Given the description of an element on the screen output the (x, y) to click on. 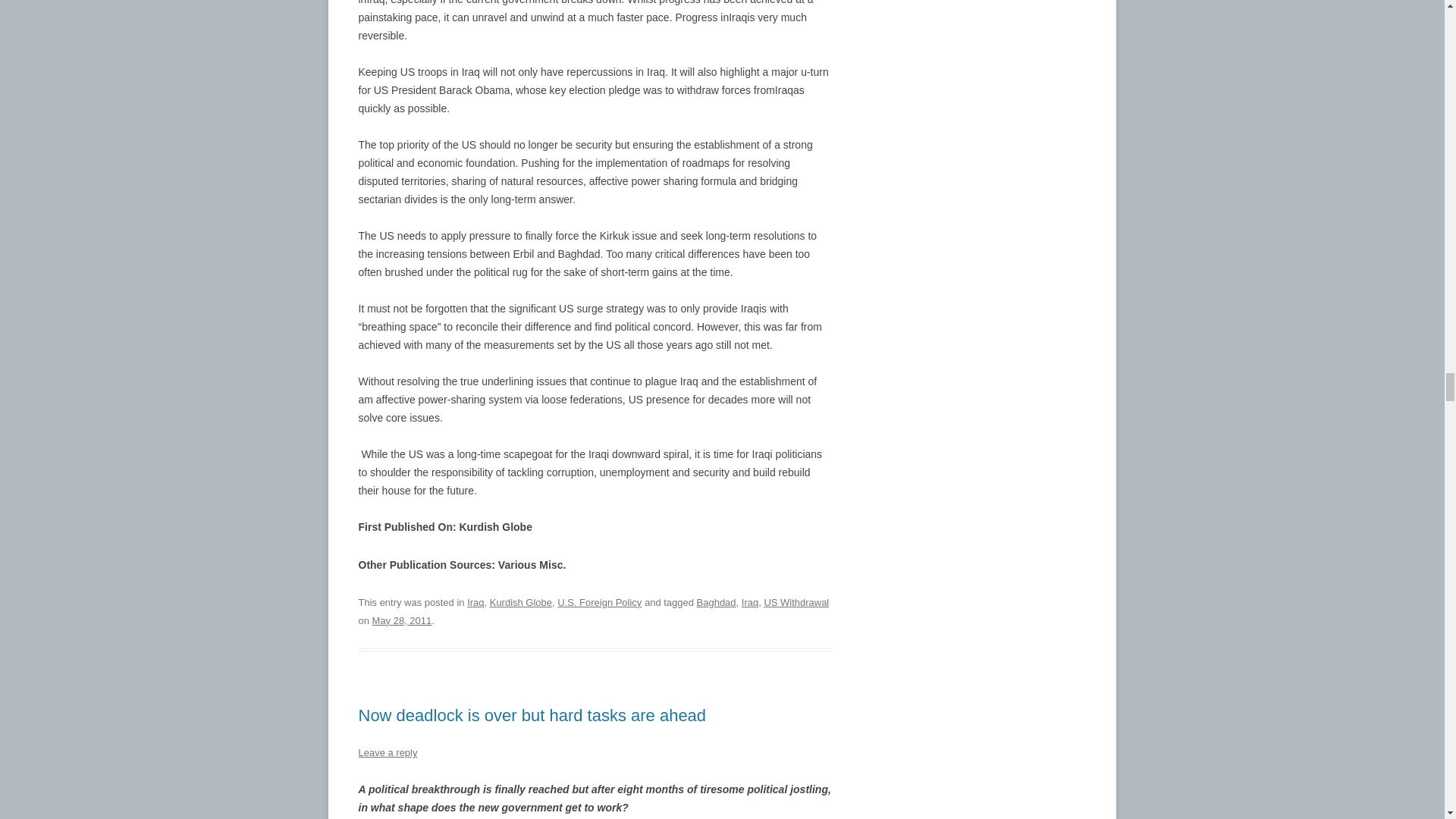
12:00 am (402, 620)
